Given the description of an element on the screen output the (x, y) to click on. 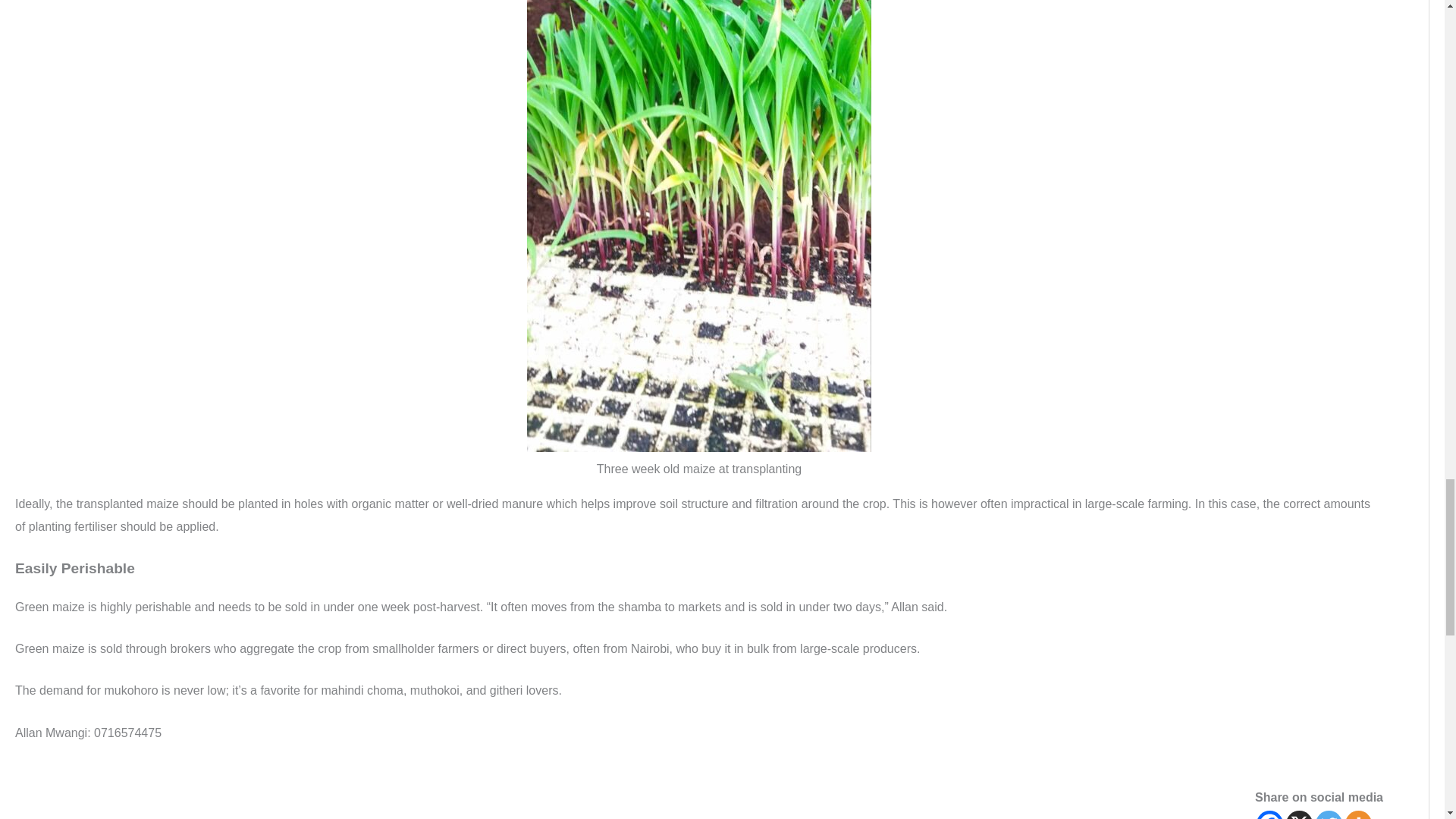
X (1299, 814)
More (1358, 814)
Facebook (1269, 814)
Twitter (1329, 814)
